Given the description of an element on the screen output the (x, y) to click on. 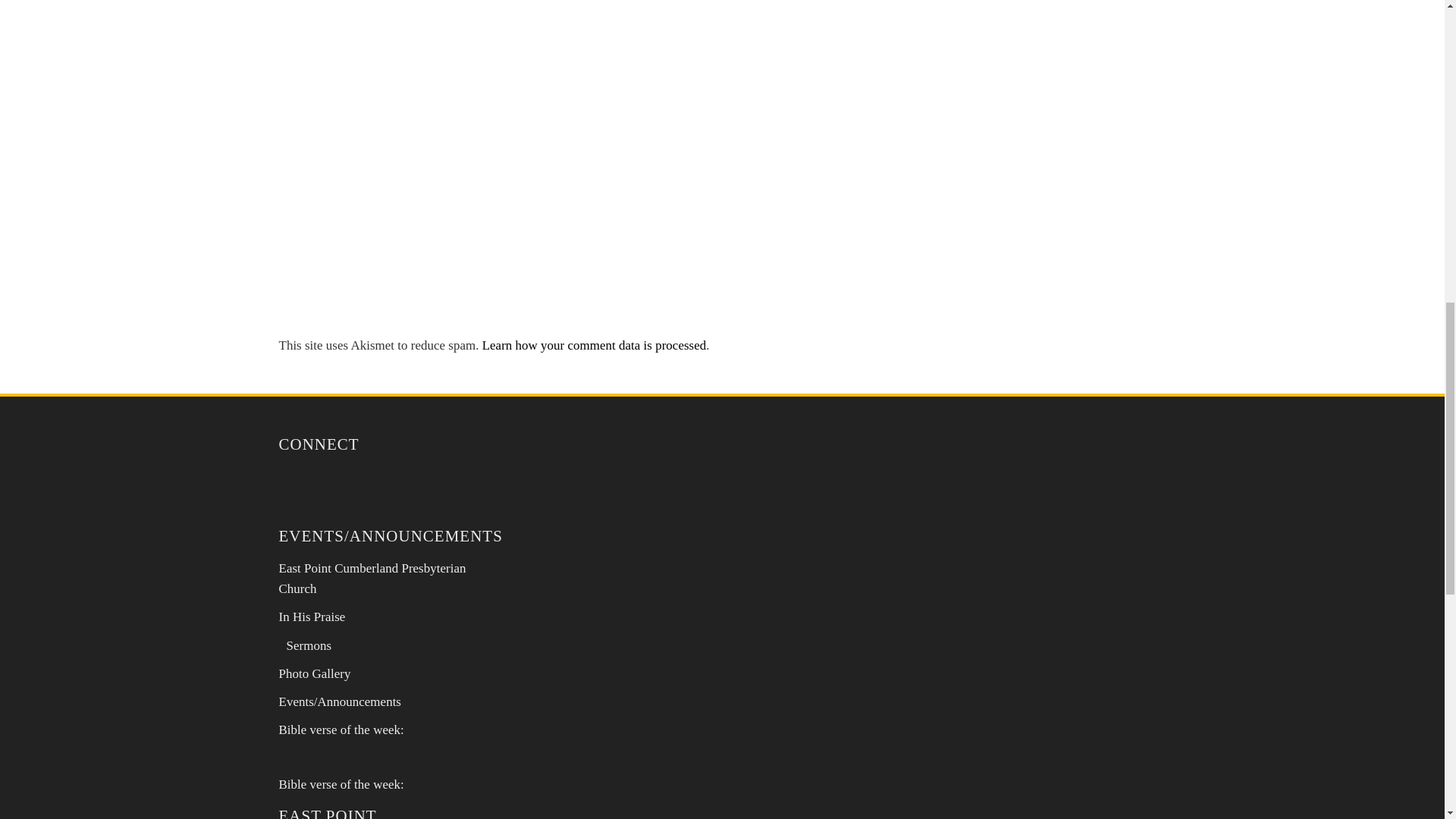
Facebook (336, 484)
Sermons (308, 645)
Learn how your comment data is processed (593, 345)
Photo Gallery (314, 673)
Bible verse of the week: (341, 729)
In His Praise (312, 616)
East Point Cumberland Presbyterian Church (372, 578)
Email (297, 484)
